Given the description of an element on the screen output the (x, y) to click on. 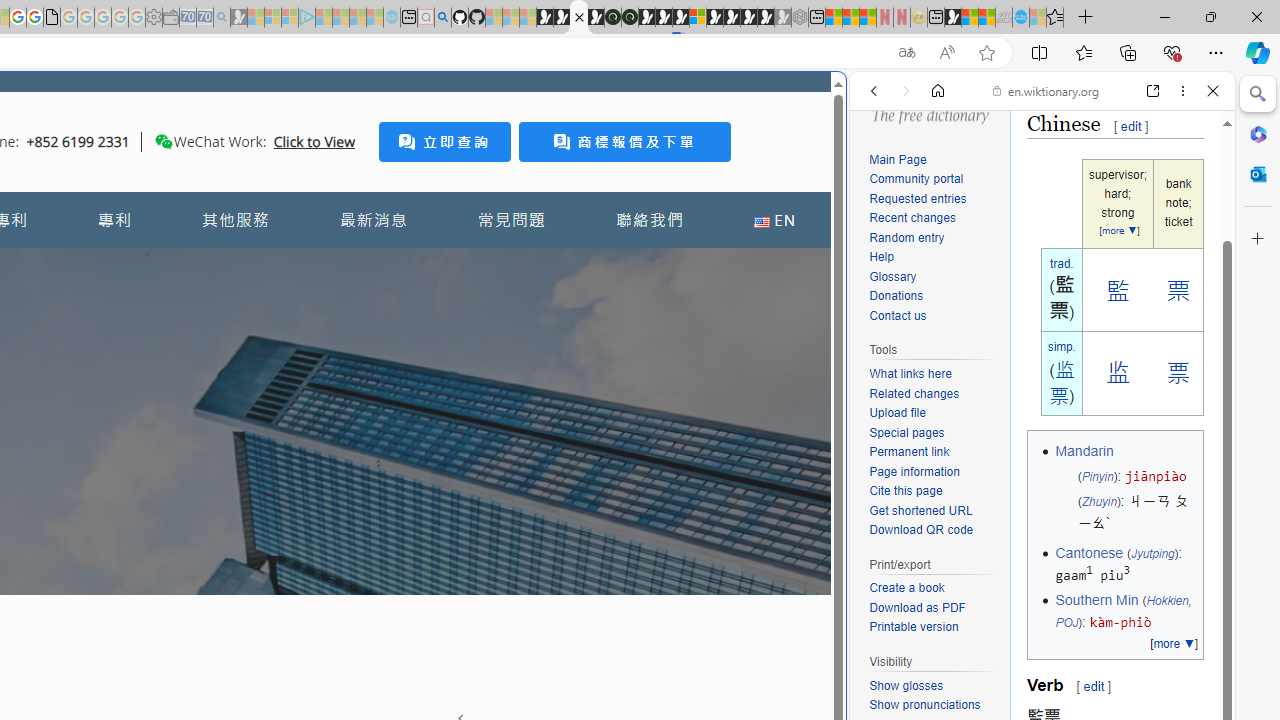
Play Cave FRVR in your browser | Games from Microsoft Start (343, 426)
Services - Maintenance | Sky Blue Bikes - Sky Blue Bikes (1020, 17)
Glossary (934, 277)
simp. (1061, 346)
Requested entries (934, 199)
Play Zoo Boom in your browser | Games from Microsoft Start (561, 17)
Recent changes (934, 218)
POJ (1066, 623)
What links here (934, 375)
What links here (910, 374)
